Given the description of an element on the screen output the (x, y) to click on. 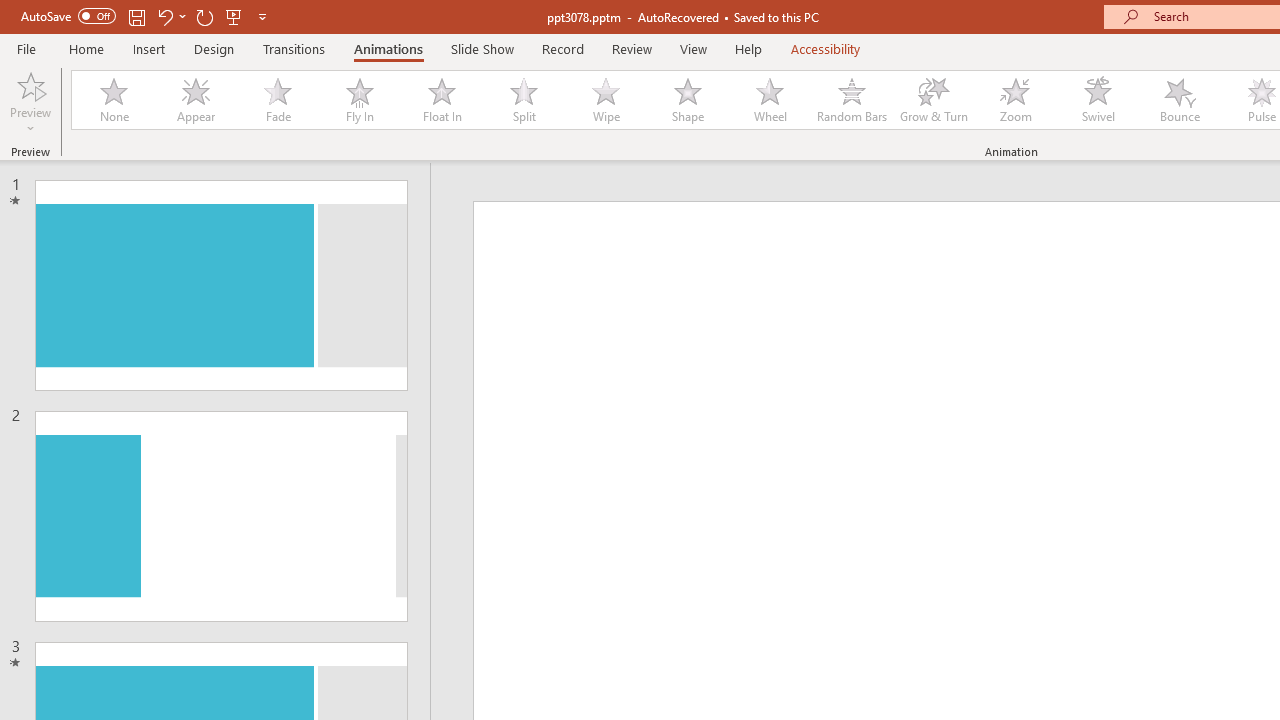
Split (523, 100)
Random Bars (852, 100)
None (113, 100)
Wipe (605, 100)
Bounce (1180, 100)
